Given the description of an element on the screen output the (x, y) to click on. 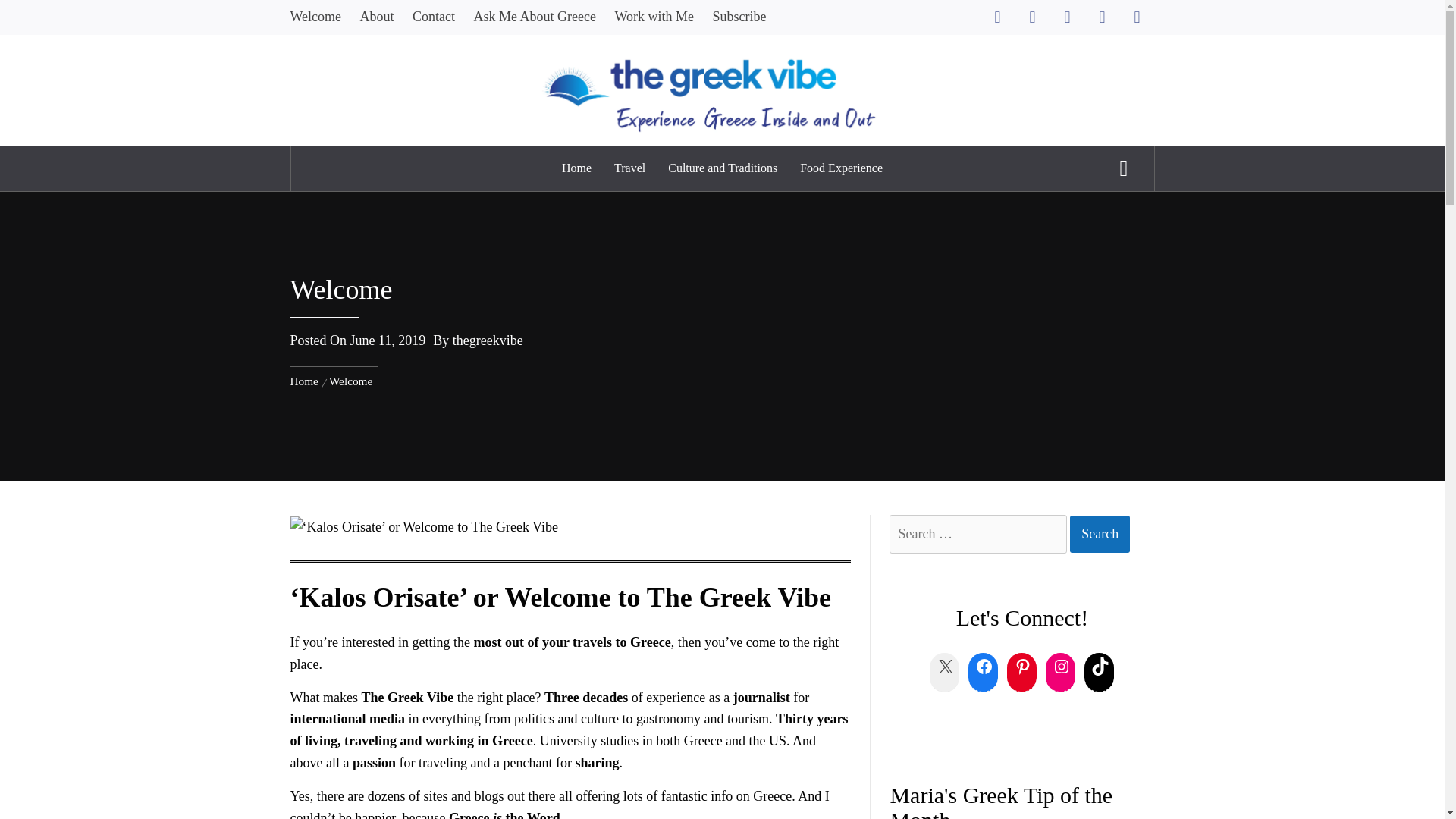
Contact (433, 17)
Subscribe (739, 17)
Home (576, 167)
Search (797, 33)
Culture and Traditions (722, 167)
Welcome (319, 17)
Food Experience (841, 167)
thegreekvibe (487, 340)
Search (1099, 533)
June 11, 2019 (388, 340)
Home (306, 380)
Ask Me About Greece (534, 17)
About (376, 17)
Work with Me (654, 17)
The Greek Vibe (722, 58)
